Given the description of an element on the screen output the (x, y) to click on. 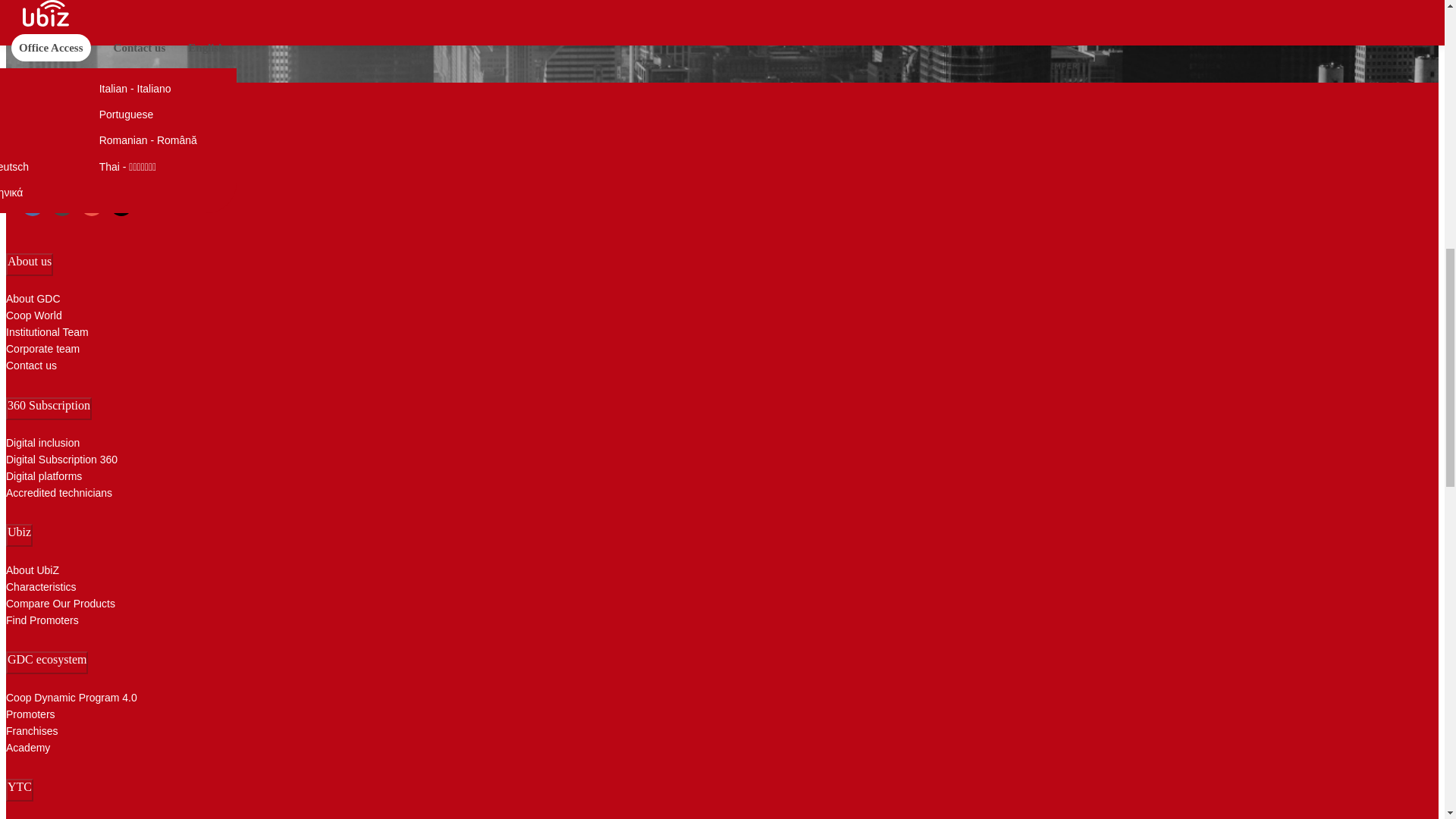
About GDC (46, 298)
Coop World (46, 315)
About us (28, 264)
Institutional Team (46, 331)
Corporate team (46, 348)
360 Subscription (48, 408)
UbiZ Mobi (42, 129)
Accredited technicians (61, 492)
Digital Subscription 360 (61, 459)
Digital inclusion (61, 442)
Digital platforms (61, 475)
Contact us (46, 365)
